Given the description of an element on the screen output the (x, y) to click on. 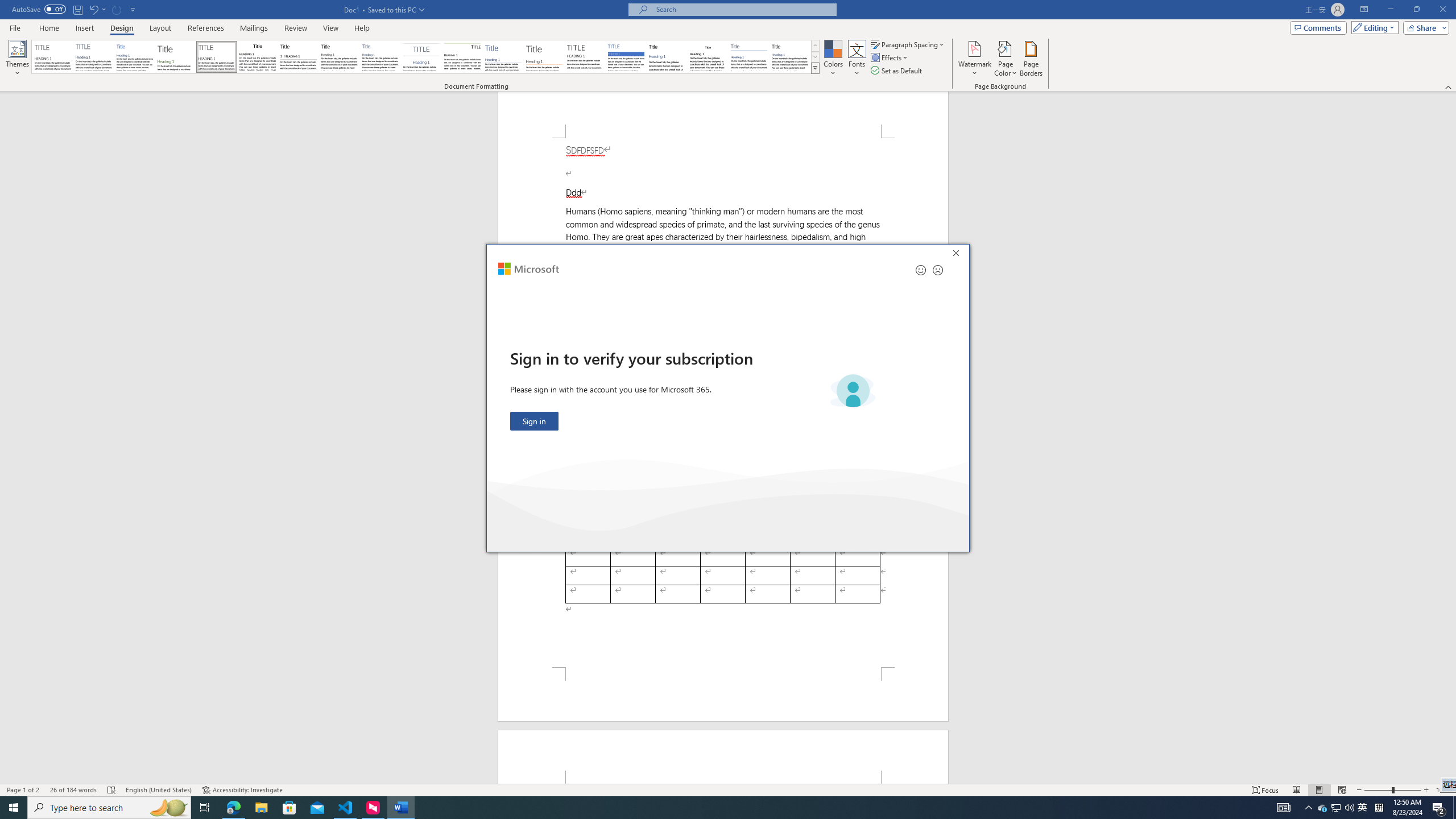
Fonts (856, 58)
Page Number Page 1 of 2 (22, 790)
Microsoft Edge - 1 running window (233, 807)
Effects (890, 56)
Page Color (1005, 58)
Page Borders... (1031, 58)
